Given the description of an element on the screen output the (x, y) to click on. 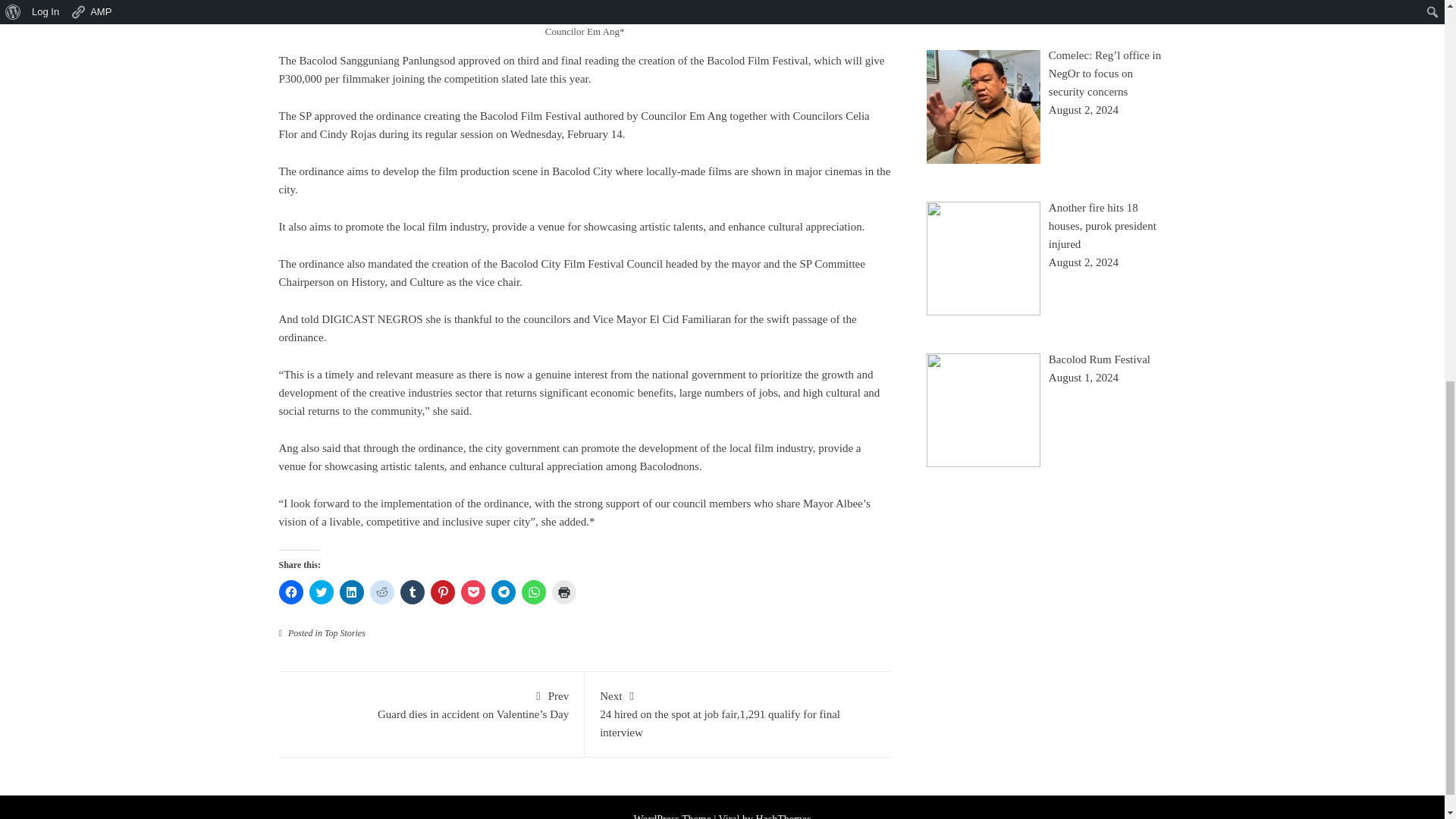
Click to share on Telegram (503, 591)
Click to share on Pocket (472, 591)
Click to share on Tumblr (412, 591)
Click to share on WhatsApp (533, 591)
Click to share on Reddit (381, 591)
Click to print (563, 591)
Click to share on Twitter (320, 591)
Click to share on LinkedIn (351, 591)
Click to share on Facebook (290, 591)
Click to share on Pinterest (442, 591)
